Given the description of an element on the screen output the (x, y) to click on. 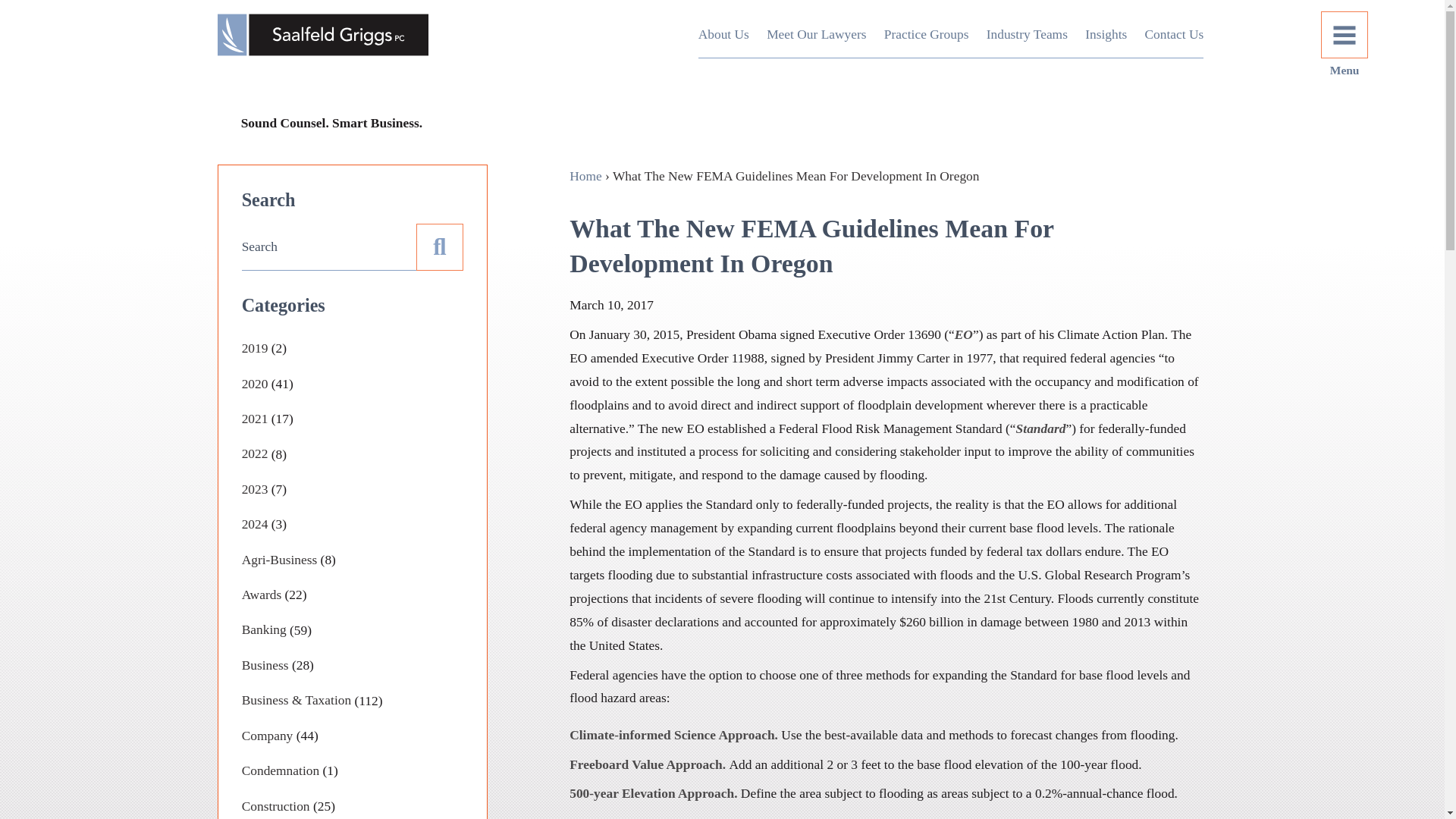
Search (1273, 34)
